Given the description of an element on the screen output the (x, y) to click on. 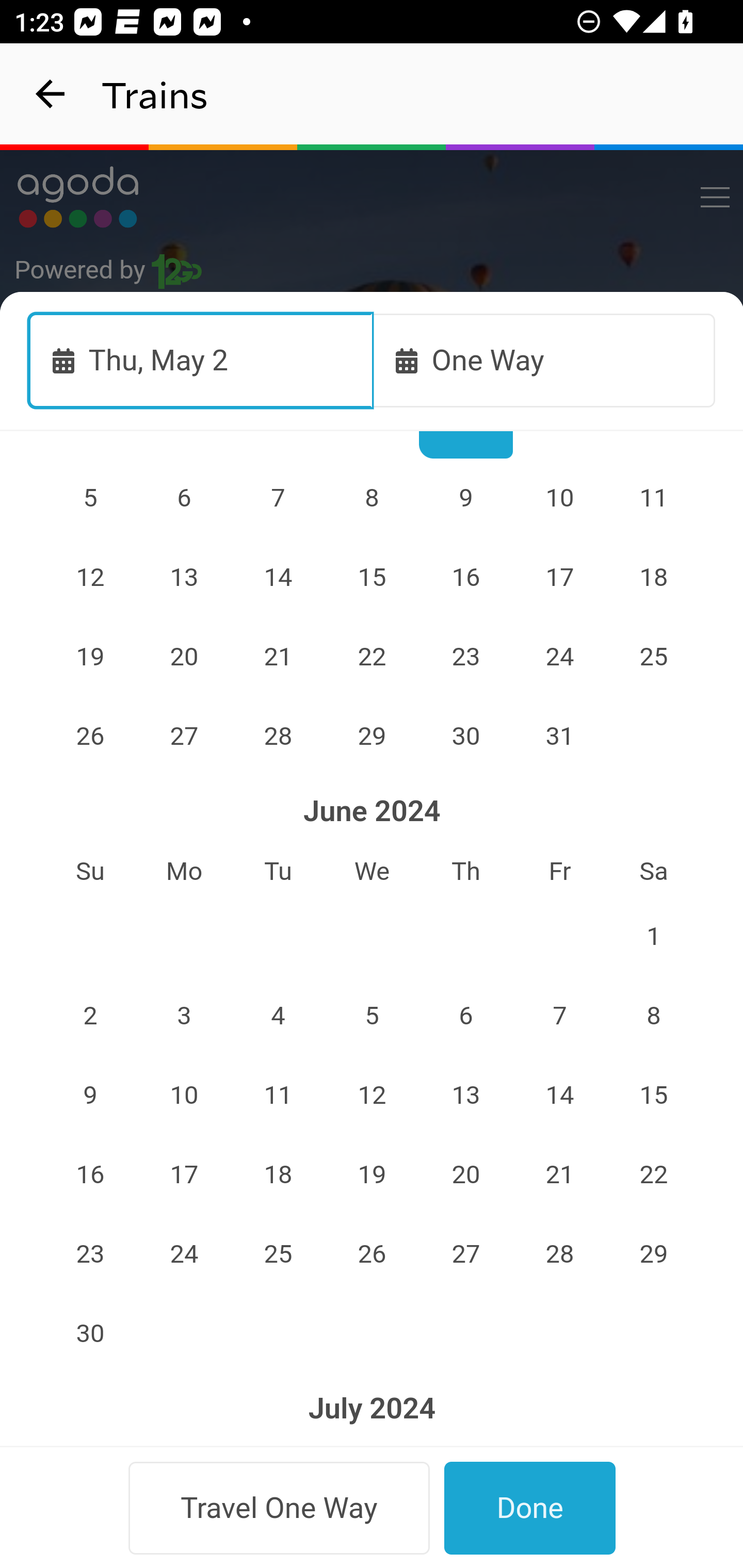
navigation_button (50, 93)
Thu, May 2 (200, 359)
One Way (544, 359)
5 (90, 496)
6 (184, 496)
7 (278, 496)
8 (372, 496)
9 (465, 496)
10 (559, 496)
11 (654, 496)
12 (90, 576)
13 (184, 576)
14 (278, 576)
15 (372, 576)
16 (465, 576)
17 (559, 576)
18 (654, 576)
19 (90, 656)
20 (184, 656)
21 (278, 656)
22 (372, 656)
23 (465, 656)
24 (559, 656)
25 (654, 656)
26 (90, 735)
27 (184, 735)
28 (278, 735)
29 (372, 735)
30 (465, 735)
31 (559, 735)
 2 Passengers (372, 887)
1 (654, 935)
2 (90, 1015)
3 (184, 1015)
4 (278, 1015)
5 (372, 1015)
6 (465, 1015)
7 (559, 1015)
8 (654, 1015)
9 (90, 1094)
10 (184, 1094)
11 (278, 1094)
12 (372, 1094)
13 (465, 1094)
14 (559, 1094)
15 (654, 1094)
16 (90, 1174)
17 (184, 1174)
18 (278, 1174)
19 (372, 1174)
20 (465, 1174)
21 (559, 1174)
22 (654, 1174)
23 (90, 1254)
24 (184, 1254)
25 (278, 1254)
26 (372, 1254)
27 (465, 1254)
28 (559, 1254)
29 (654, 1254)
30 (90, 1332)
Travel One Way (278, 1508)
Done (530, 1508)
